Given the description of an element on the screen output the (x, y) to click on. 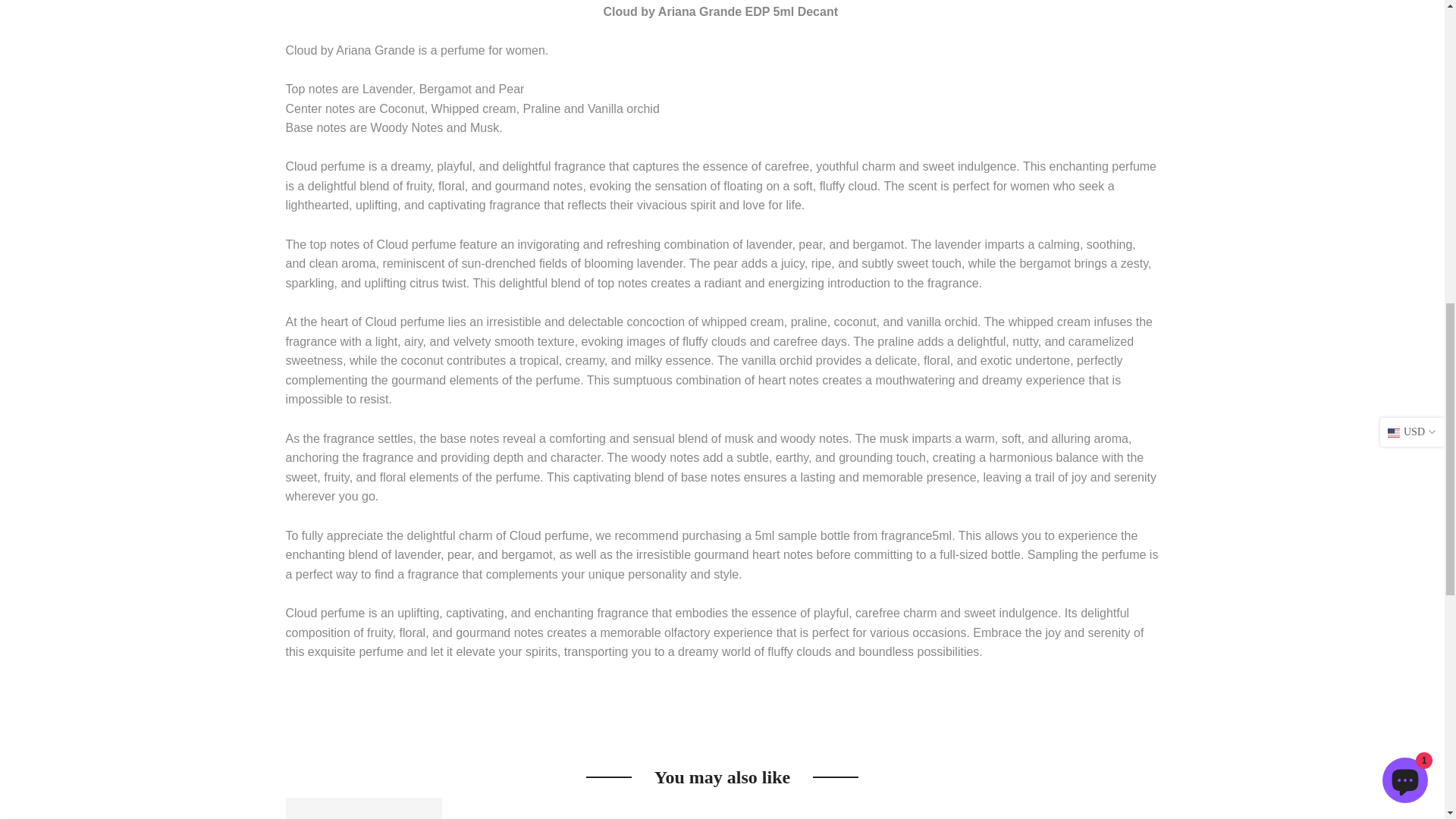
1 (815, 35)
